Given the description of an element on the screen output the (x, y) to click on. 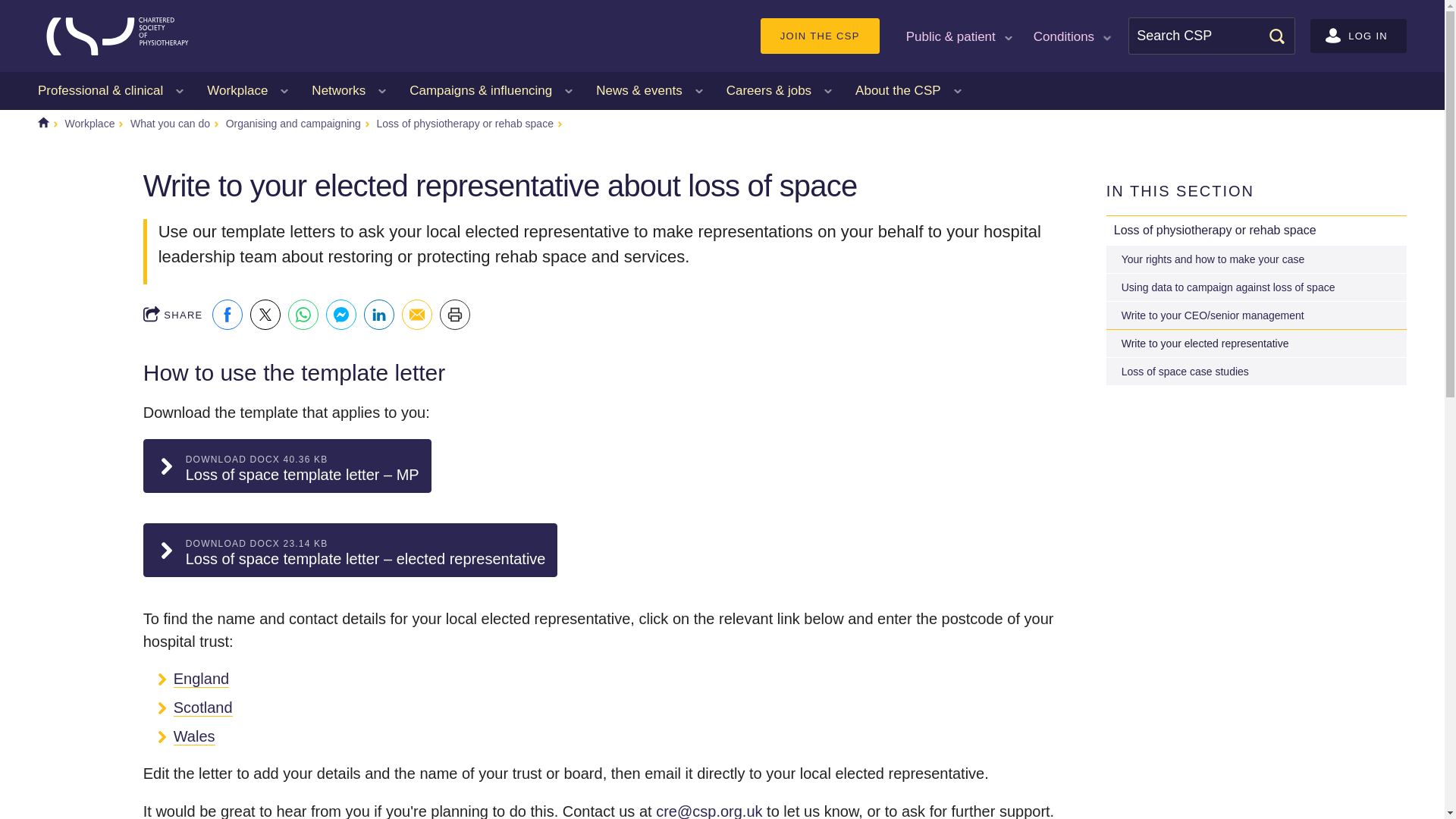
JOIN THE CSP (819, 36)
Facebook messenger (341, 314)
WhatsApp (303, 314)
Facebook (227, 314)
Conditions (1071, 35)
Email (416, 314)
Linkedin (379, 314)
Enter the terms you wish to search for. (1211, 35)
Search (1276, 35)
